Given the description of an element on the screen output the (x, y) to click on. 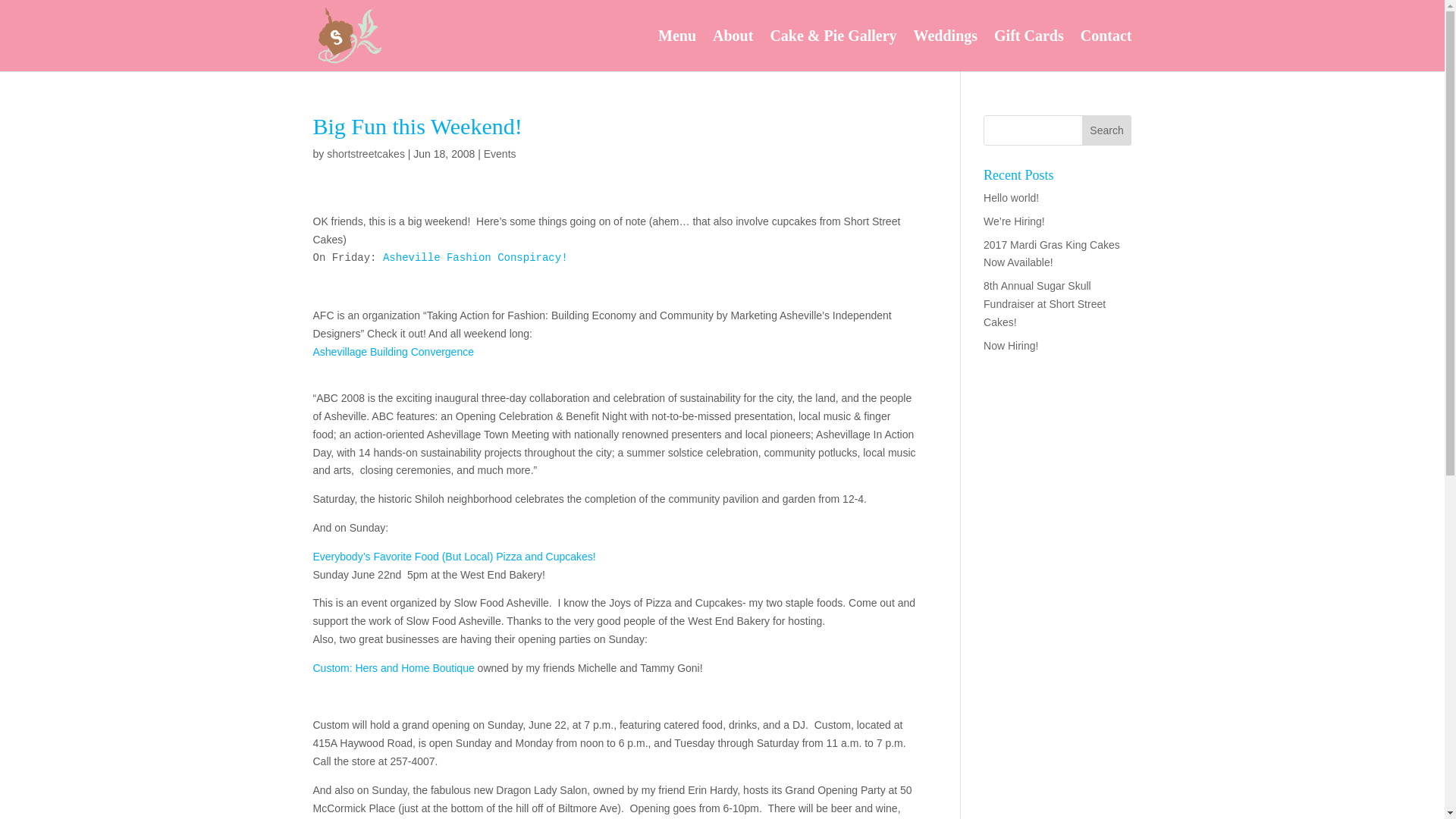
Asheville Fashion Conspiracy! (474, 257)
Search (1106, 130)
Gift Cards (1029, 50)
Contact (1106, 50)
Weddings (945, 50)
Search (1106, 130)
Hello world! (1011, 197)
Menu (676, 50)
Short Street Cakes Weddings! (945, 50)
shortstreetcakes (365, 153)
Now Hiring! (1011, 345)
Custom: Hers and Home Boutique (393, 667)
2017 Mardi Gras King Cakes Now Available! (1051, 254)
Events (499, 153)
Posts by shortstreetcakes (365, 153)
